Given the description of an element on the screen output the (x, y) to click on. 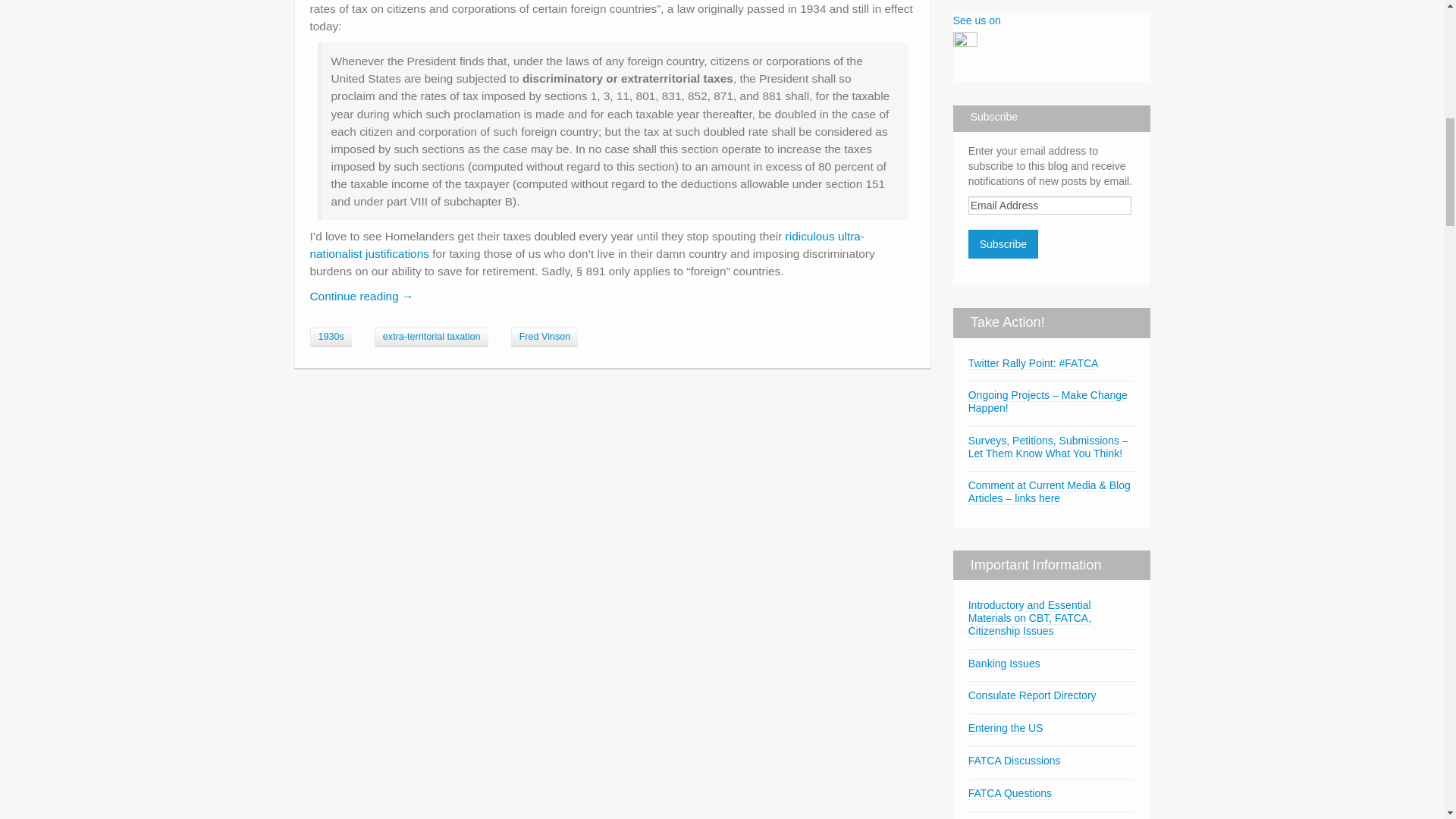
1930s (329, 336)
ridiculous (810, 236)
Fred Vinson (544, 336)
Subscribe (1003, 244)
justifications (397, 253)
ultra-nationalist (585, 245)
Email Address (1050, 205)
extra-territorial taxation (430, 336)
